Given the description of an element on the screen output the (x, y) to click on. 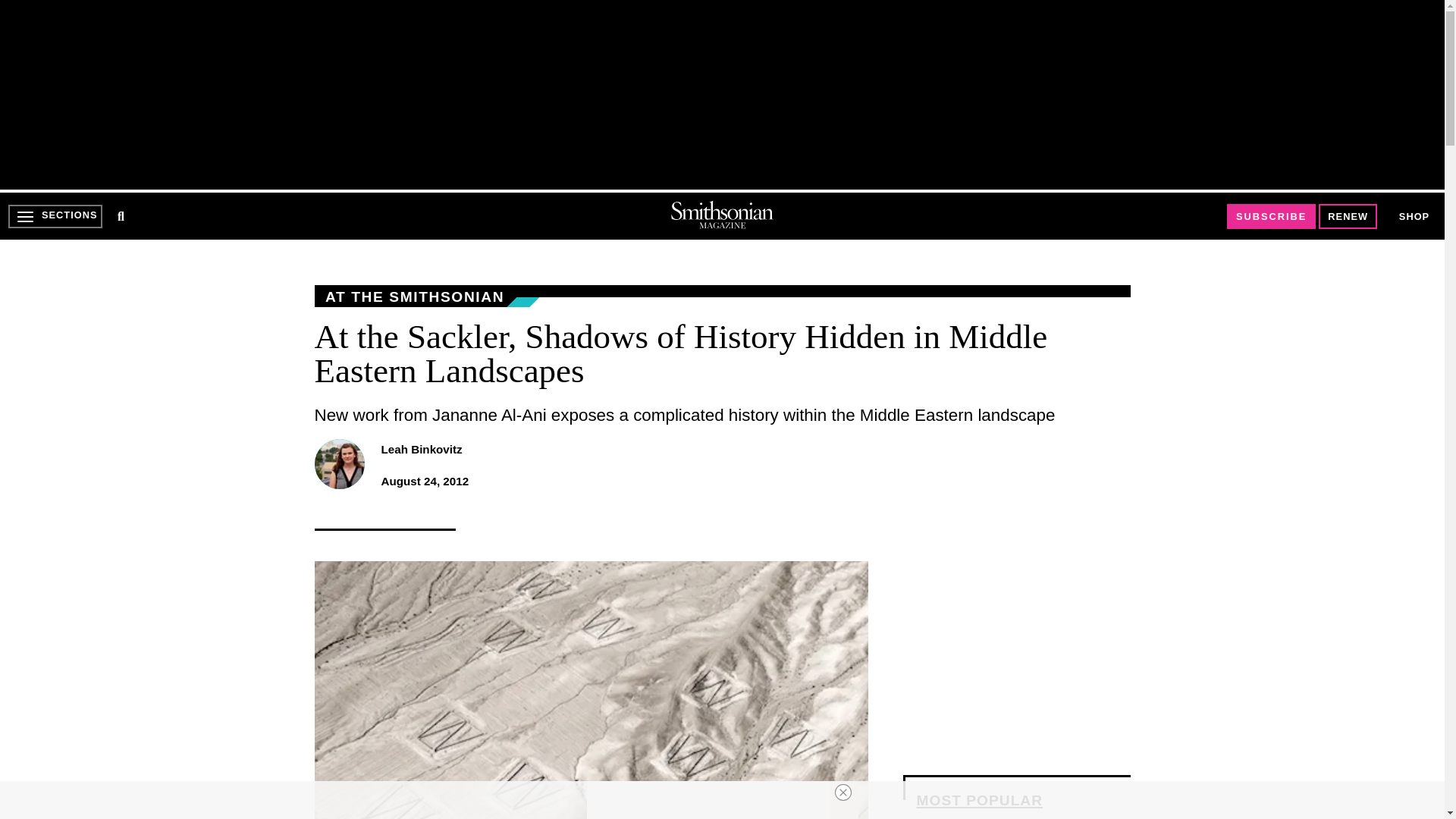
SHOP (1414, 215)
RENEW (1348, 216)
RENEW (1347, 216)
SUBSCRIBE (1271, 216)
3rd party ad content (721, 94)
SECTIONS (55, 216)
SHOP (1413, 216)
SUBSCRIBE (1271, 216)
